Given the description of an element on the screen output the (x, y) to click on. 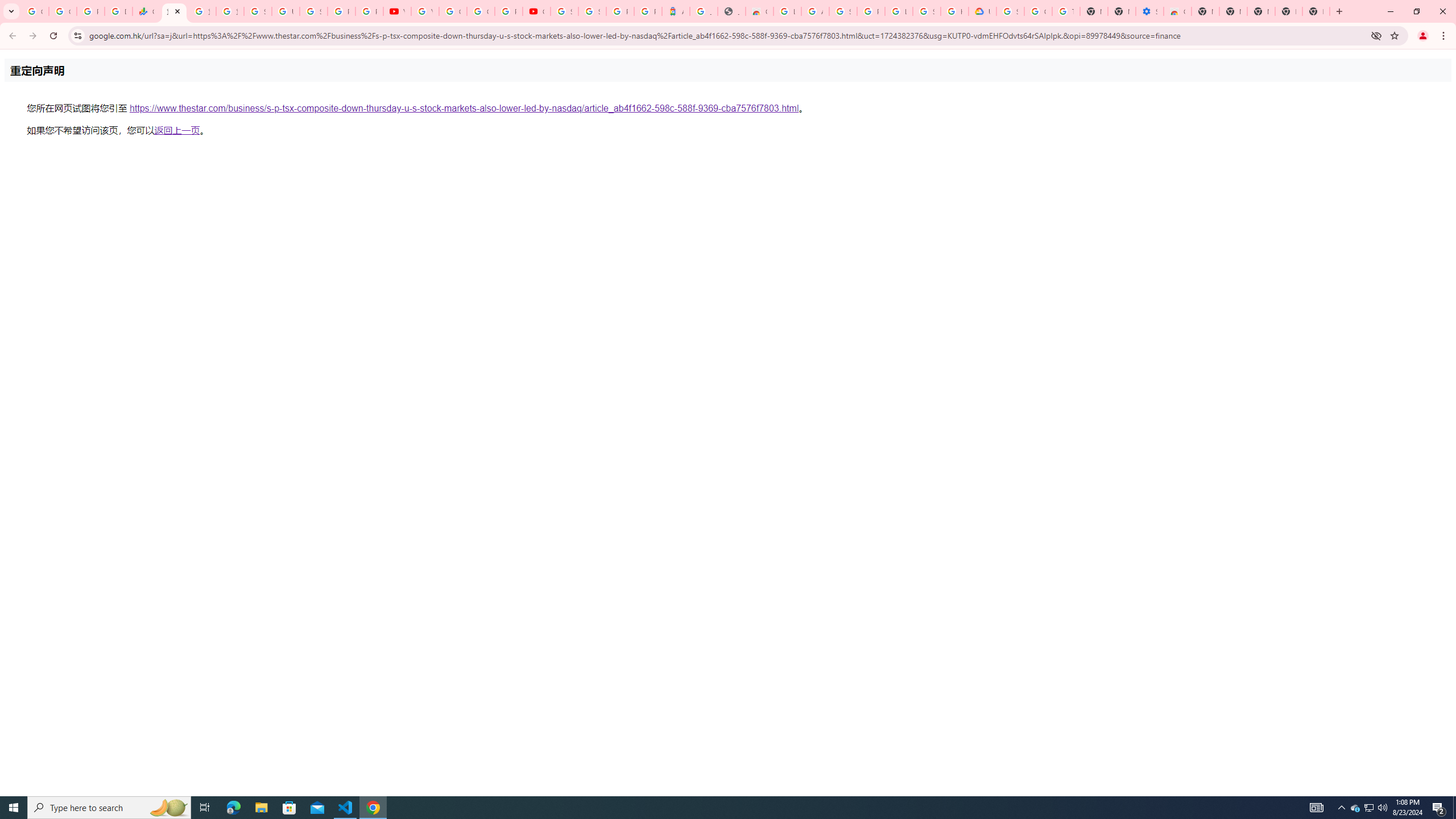
Sign in - Google Accounts (564, 11)
Content Creator Programs & Opportunities - YouTube Creators (536, 11)
YouTube (397, 11)
Privacy Checkup (369, 11)
Address and search bar (726, 35)
Create your Google Account (480, 11)
YouTube (425, 11)
